Given the description of an element on the screen output the (x, y) to click on. 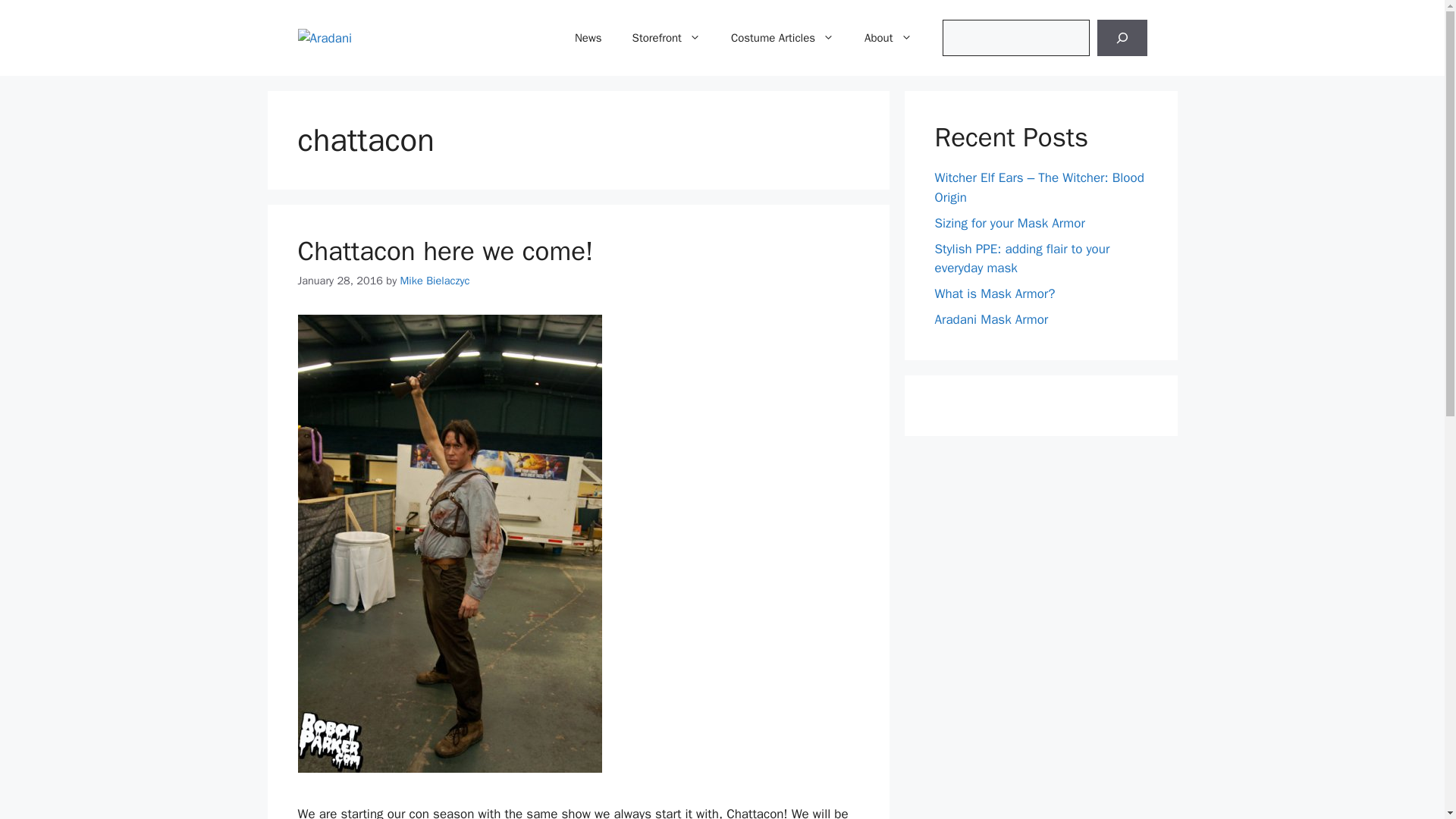
Sizing for your Mask Armor (1009, 222)
Chattacon here we come! (444, 250)
About (887, 37)
View all posts by Mike Bielaczyc (435, 280)
What is Mask Armor? (994, 293)
News (588, 37)
Costume Articles (782, 37)
Mike Bielaczyc (435, 280)
Aradani Mask Armor (991, 319)
Storefront (666, 37)
Stylish PPE: adding flair to your everyday mask (1021, 258)
